Given the description of an element on the screen output the (x, y) to click on. 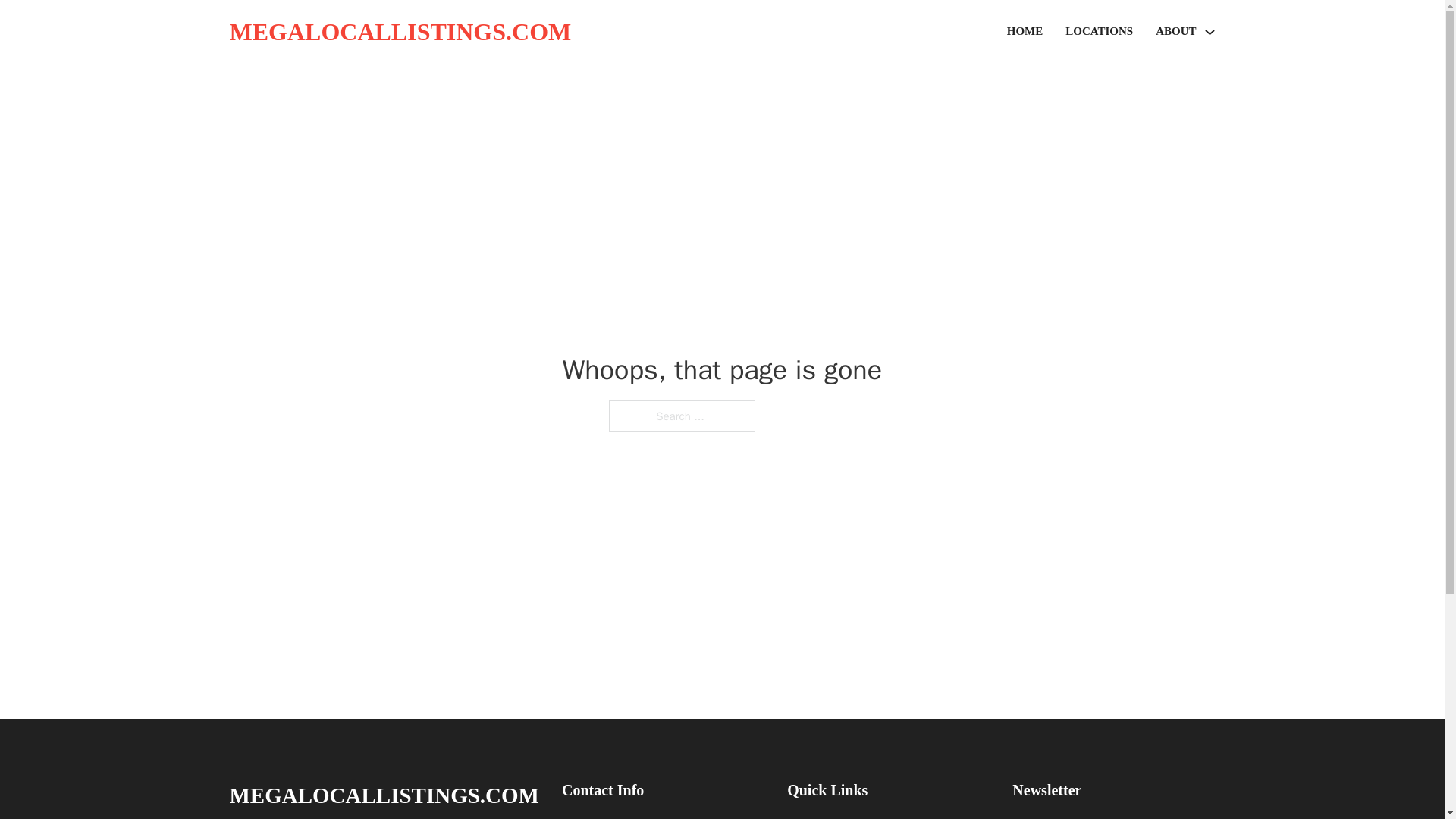
LOCATIONS (1098, 31)
MEGALOCALLISTINGS.COM (383, 795)
HOME (1025, 31)
MEGALOCALLISTINGS.COM (399, 31)
